Given the description of an element on the screen output the (x, y) to click on. 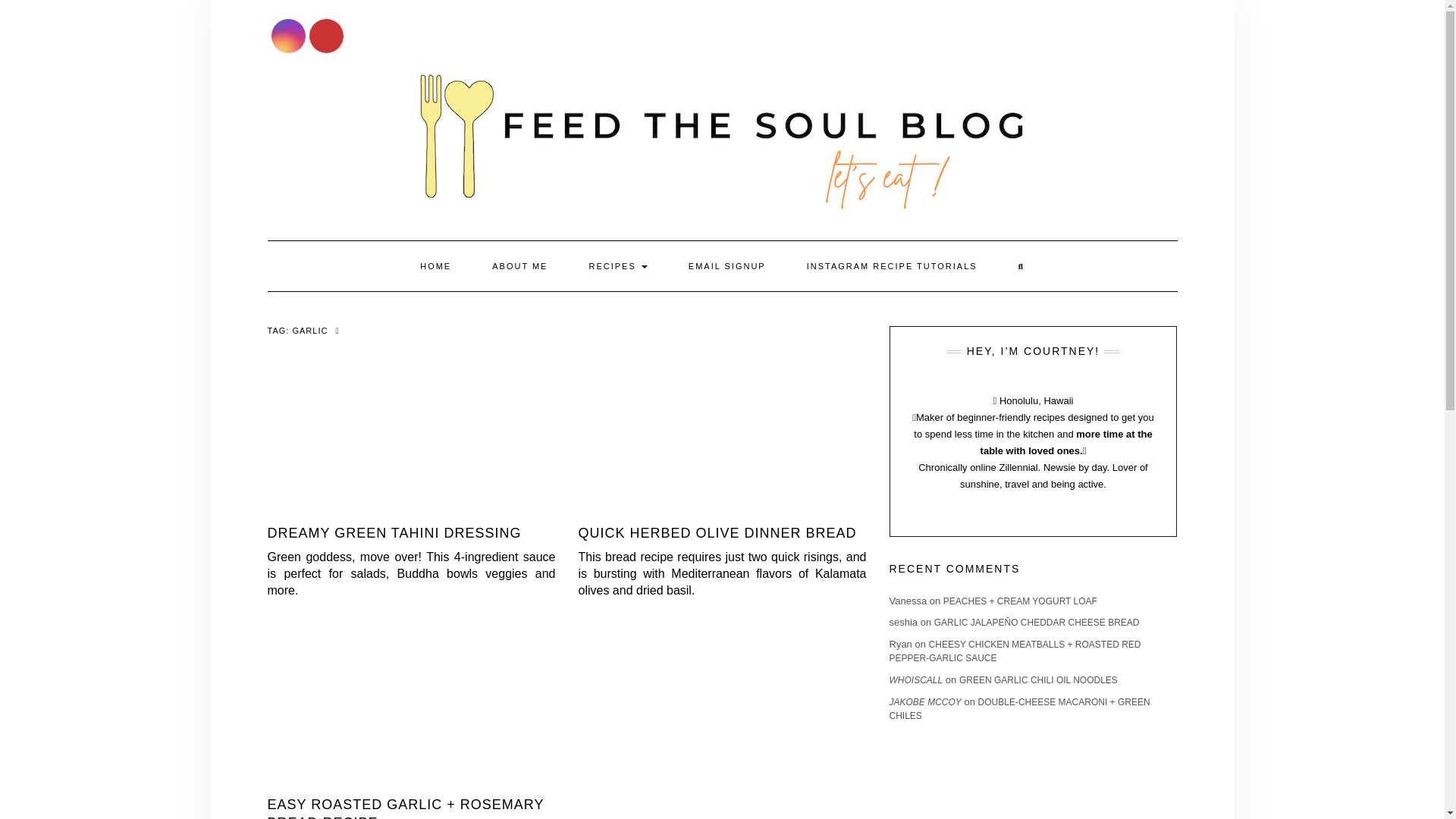
QUICK HERBED OLIVE DINNER BREAD (717, 532)
WHOISCALL (915, 679)
HOME (434, 265)
RECIPES (616, 265)
GREEN GARLIC CHILI OIL NOODLES (1038, 679)
Dreamy Green Tahini Dressing (393, 532)
INSTAGRAM RECIPE TUTORIALS (891, 265)
EMAIL SIGNUP (727, 265)
JAKOBE MCCOY (924, 701)
DREAMY GREEN TAHINI DRESSING (393, 532)
